Given the description of an element on the screen output the (x, y) to click on. 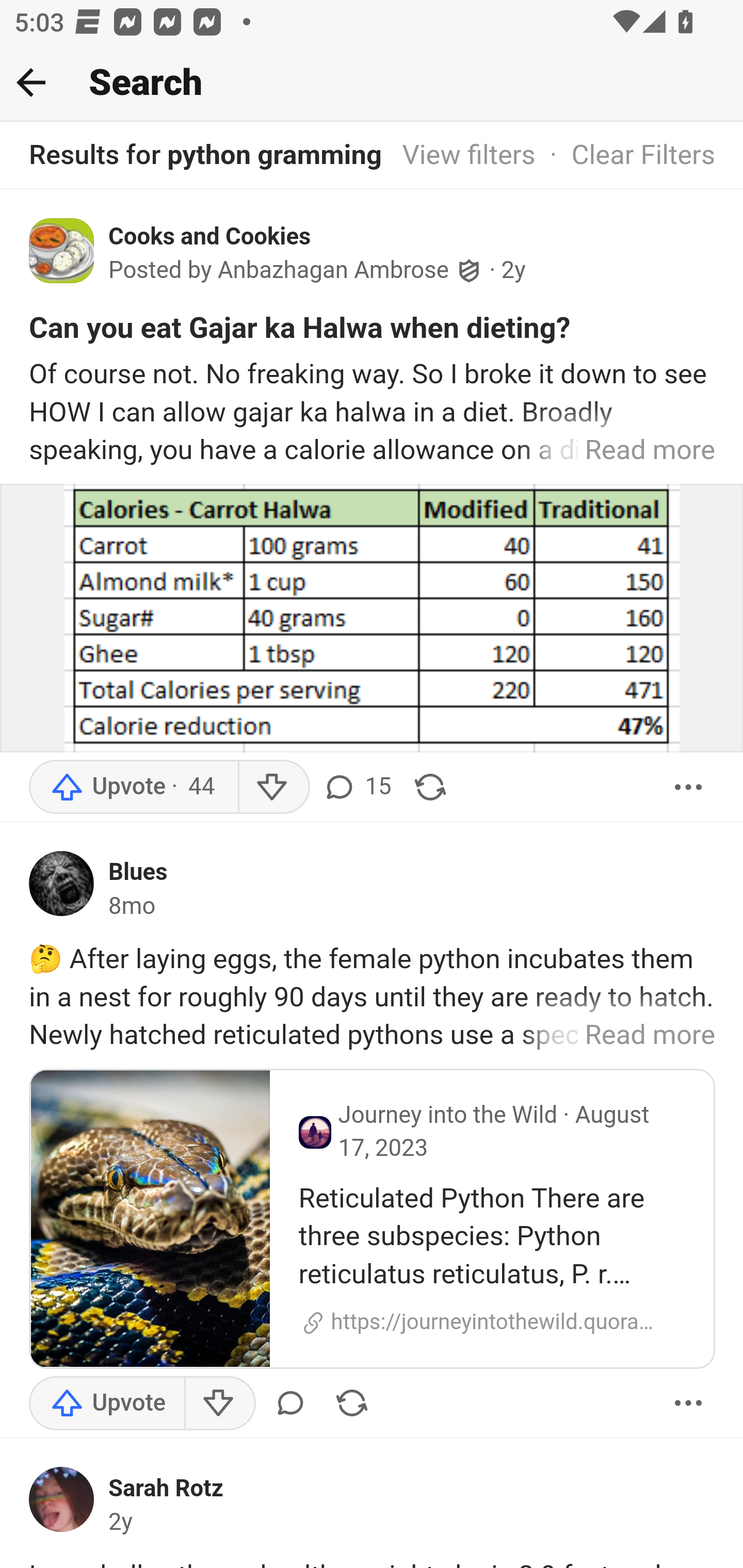
Back Search (371, 82)
Back (30, 82)
View filters (468, 155)
· Clear Filters · Clear Filters (625, 155)
Icon for Cooks and Cookies (61, 249)
Cooks and Cookies (210, 235)
Anbazhagan Ambrose (332, 271)
2y 2 y (513, 270)
Upvote (133, 786)
Downvote (273, 786)
15 comments (356, 786)
Share (430, 786)
More (688, 786)
Profile photo for Blues (61, 882)
Blues (137, 872)
8mo 8 mo (132, 905)
Upvote (106, 1402)
Downvote (219, 1402)
Comment (290, 1402)
Share (351, 1402)
More (688, 1402)
Profile photo for Sarah Rotz (61, 1499)
Sarah Rotz (165, 1488)
2y 2 y (120, 1522)
